Given the description of an element on the screen output the (x, y) to click on. 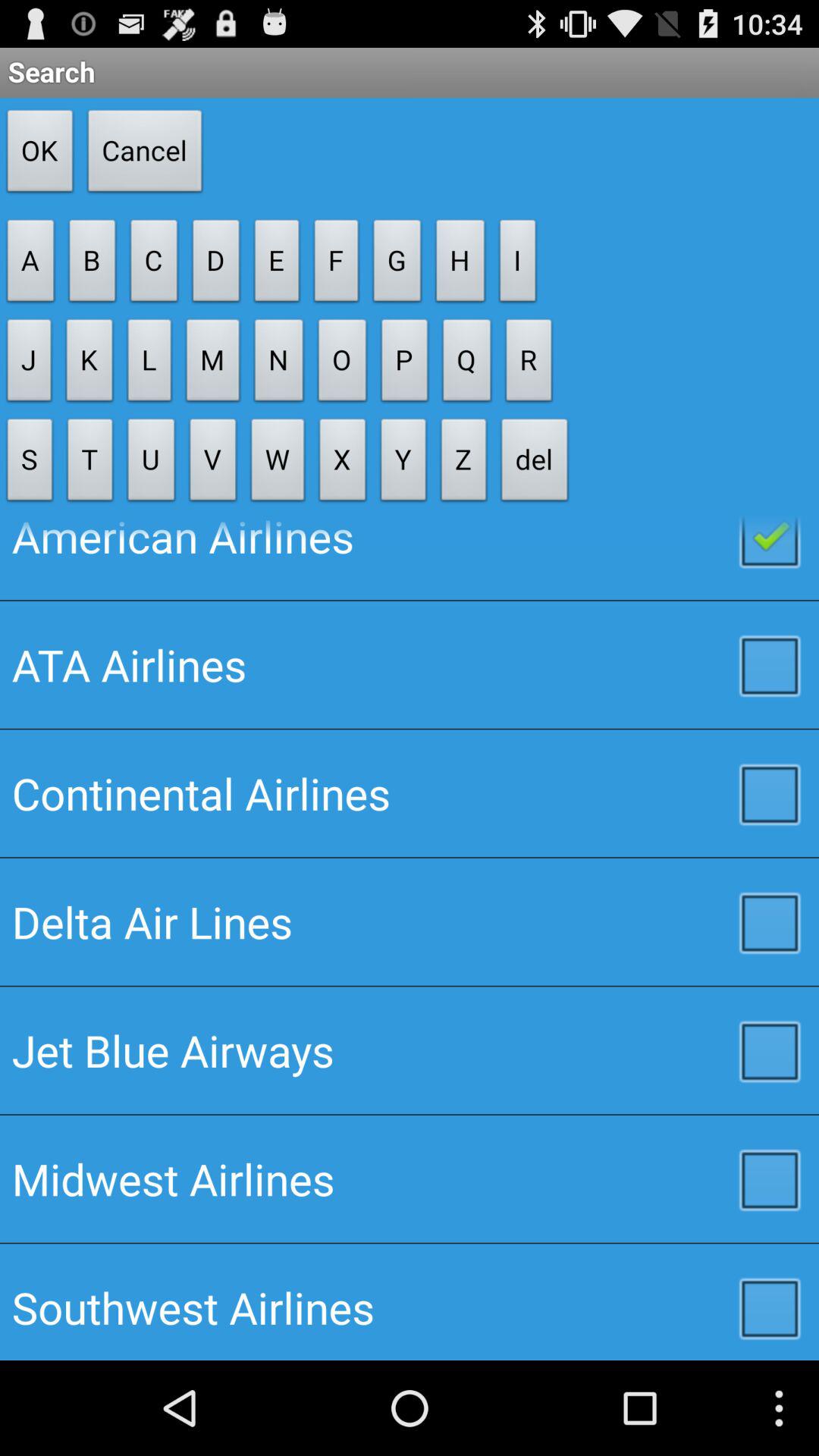
turn on southwest airlines icon (409, 1301)
